Given the description of an element on the screen output the (x, y) to click on. 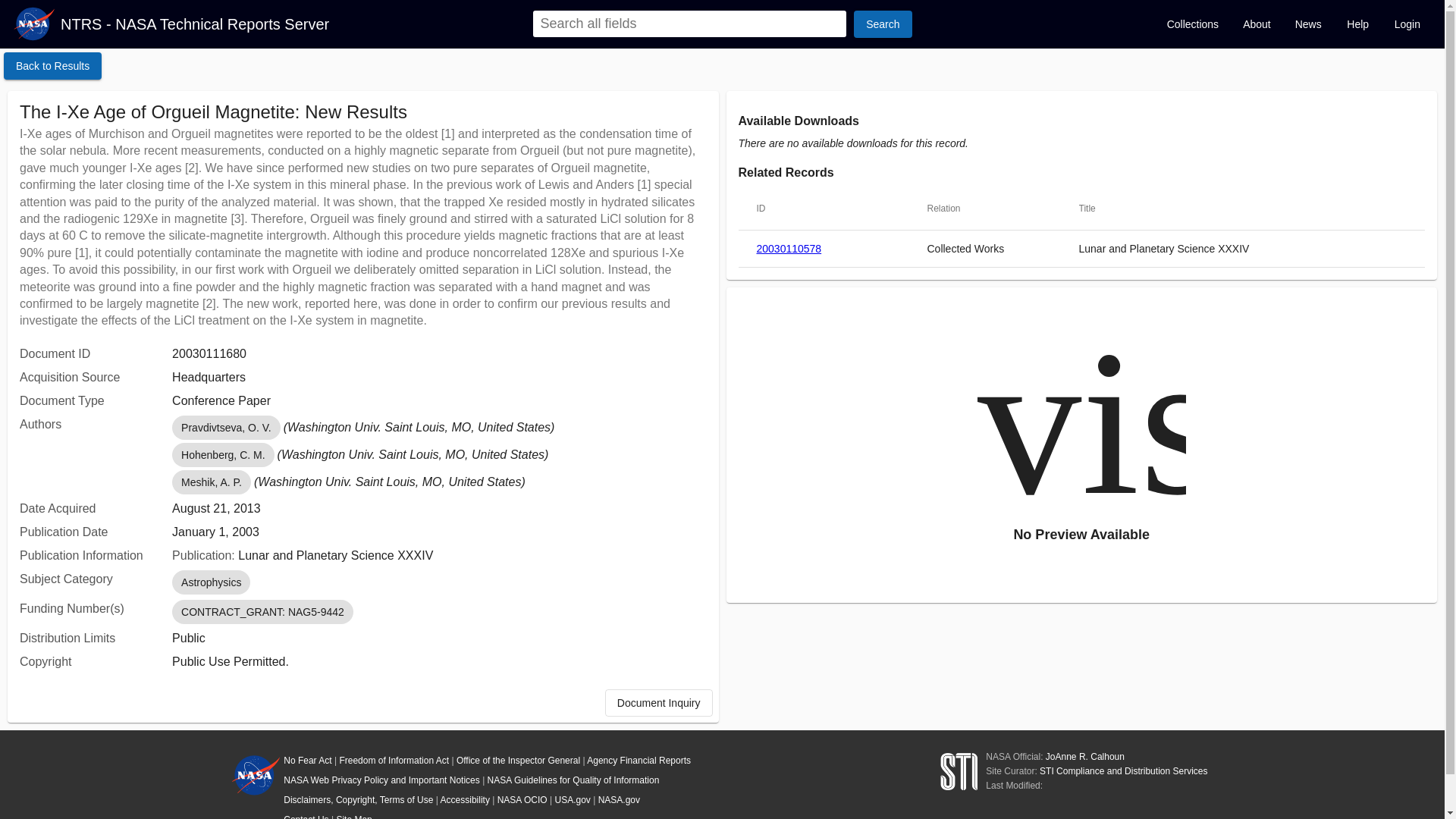
Disclaimers, Copyright, Terms of Use (357, 799)
Agency Financial Reports (638, 760)
Accessibility (465, 799)
About (1256, 23)
Contact Us (306, 816)
STI Compliance and Distribution Services (1123, 770)
20030110578 (789, 248)
Login (1406, 23)
Back to Results (52, 65)
NASA Web Privacy Policy and Important Notices (381, 779)
Document Inquiry (659, 702)
Collections (1192, 23)
NASA Guidelines for Quality of Information (573, 779)
Search (882, 23)
No Fear Act (307, 760)
